Given the description of an element on the screen output the (x, y) to click on. 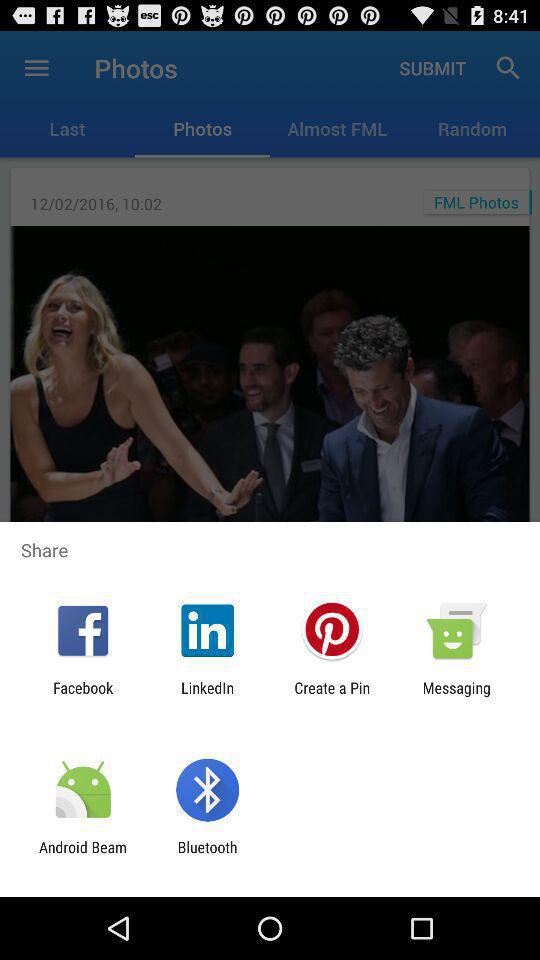
tap item to the right of the android beam item (207, 856)
